Given the description of an element on the screen output the (x, y) to click on. 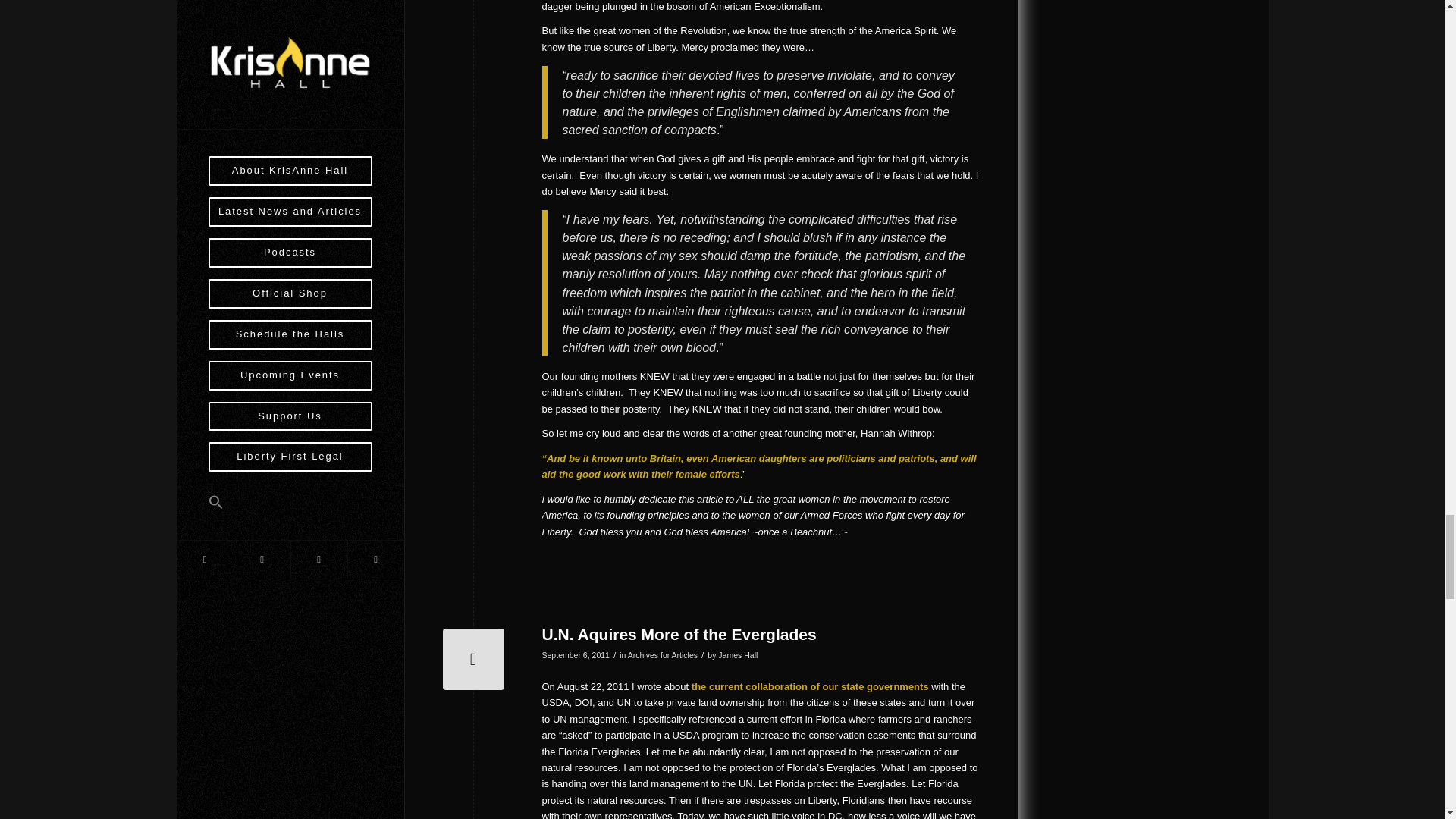
Permanent Link: U.N. Aquires More of the Everglades (678, 633)
U.N. Aquires More of the Everglades (678, 633)
